Given the description of an element on the screen output the (x, y) to click on. 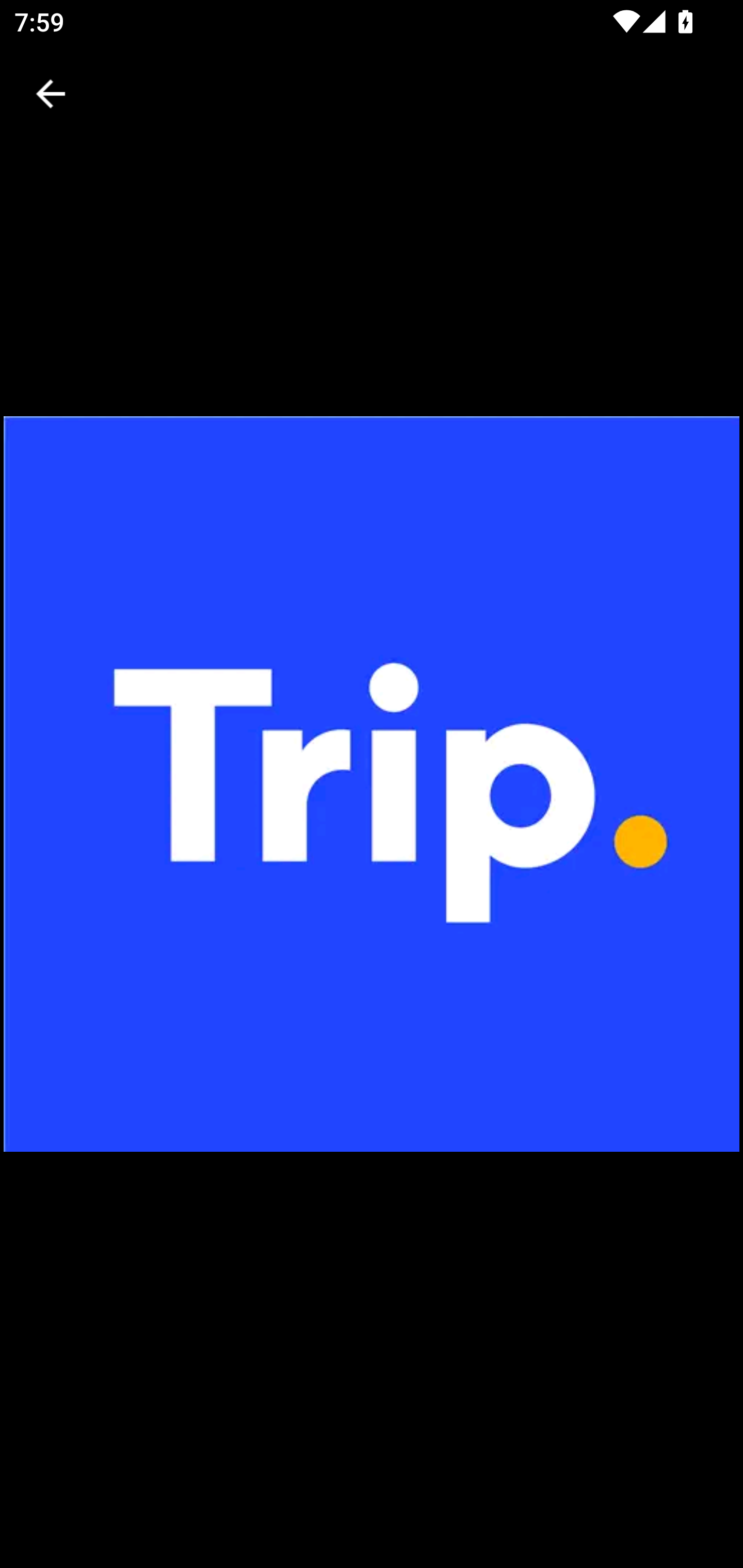
Back (50, 93)
